Given the description of an element on the screen output the (x, y) to click on. 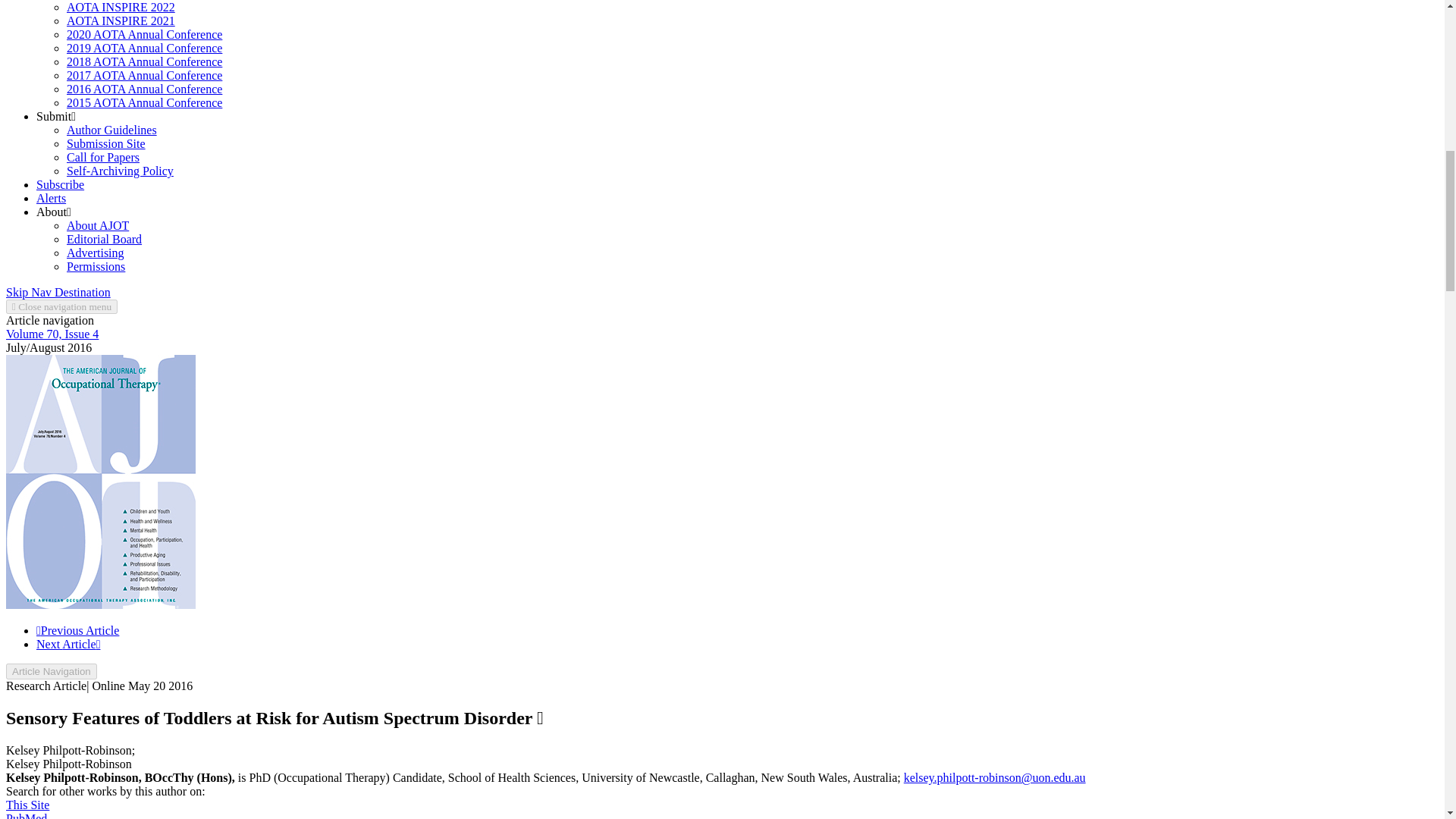
Author Guidelines (111, 129)
2016 AOTA Annual Conference (144, 88)
2019 AOTA Annual Conference (144, 47)
AOTA INSPIRE 2022 (120, 6)
2020 AOTA Annual Conference (144, 33)
AOTA INSPIRE 2021 (120, 20)
2017 AOTA Annual Conference (144, 74)
2015 AOTA Annual Conference (144, 102)
Submit (55, 115)
2018 AOTA Annual Conference (144, 61)
